Given the description of an element on the screen output the (x, y) to click on. 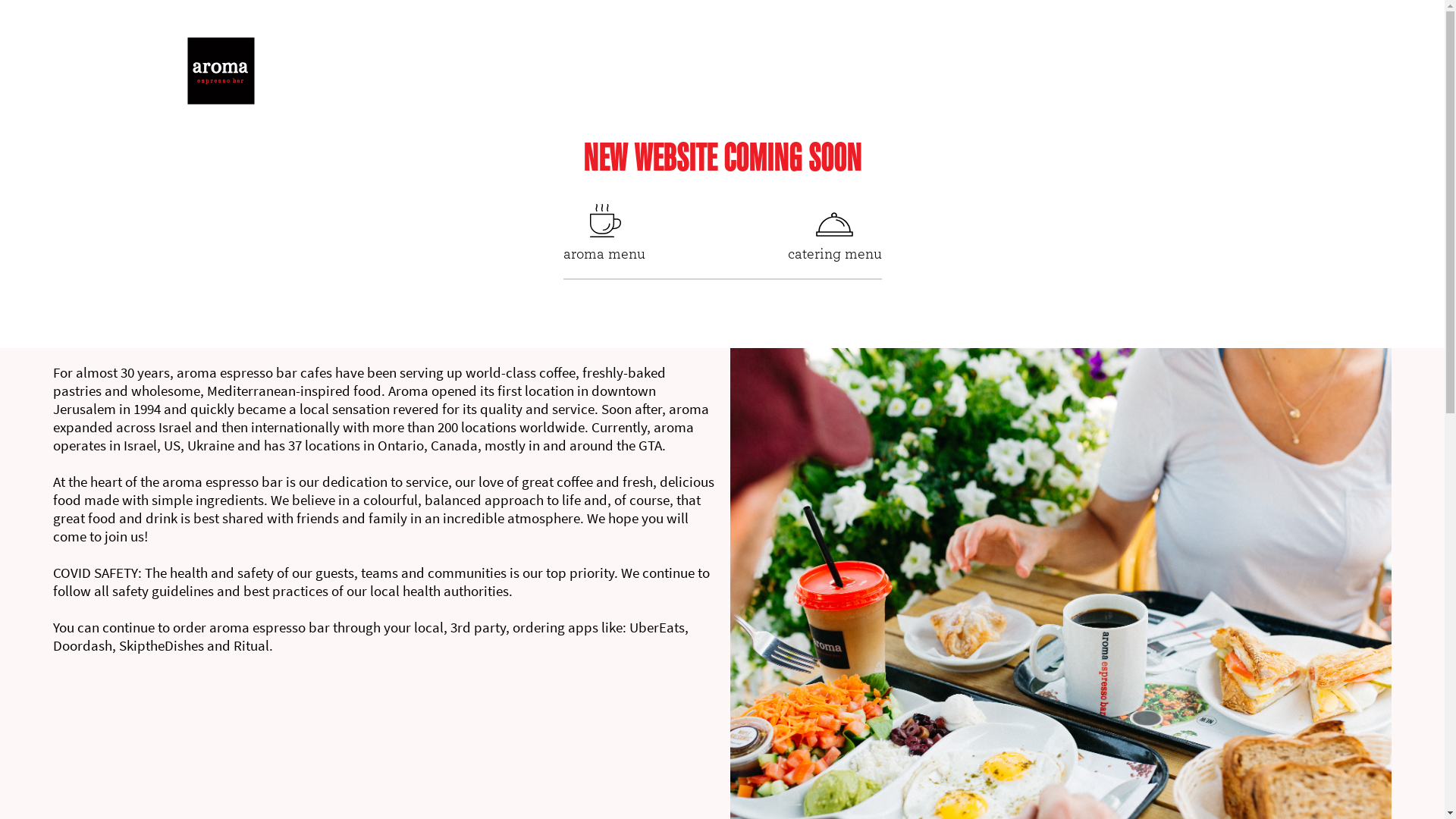
aroma menu Element type: text (603, 231)
catering menu Element type: text (834, 231)
